Given the description of an element on the screen output the (x, y) to click on. 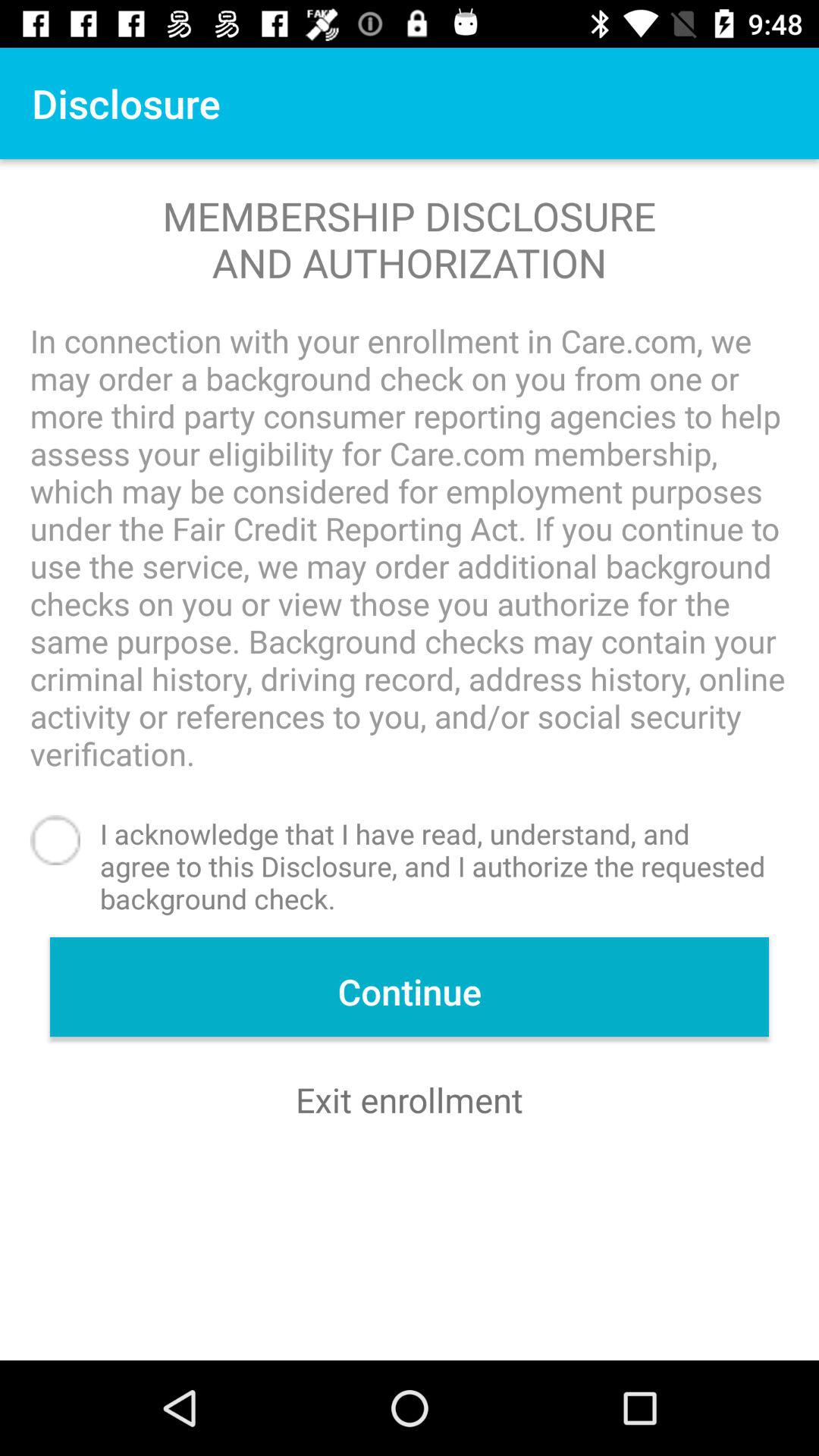
select continue icon (409, 986)
